Given the description of an element on the screen output the (x, y) to click on. 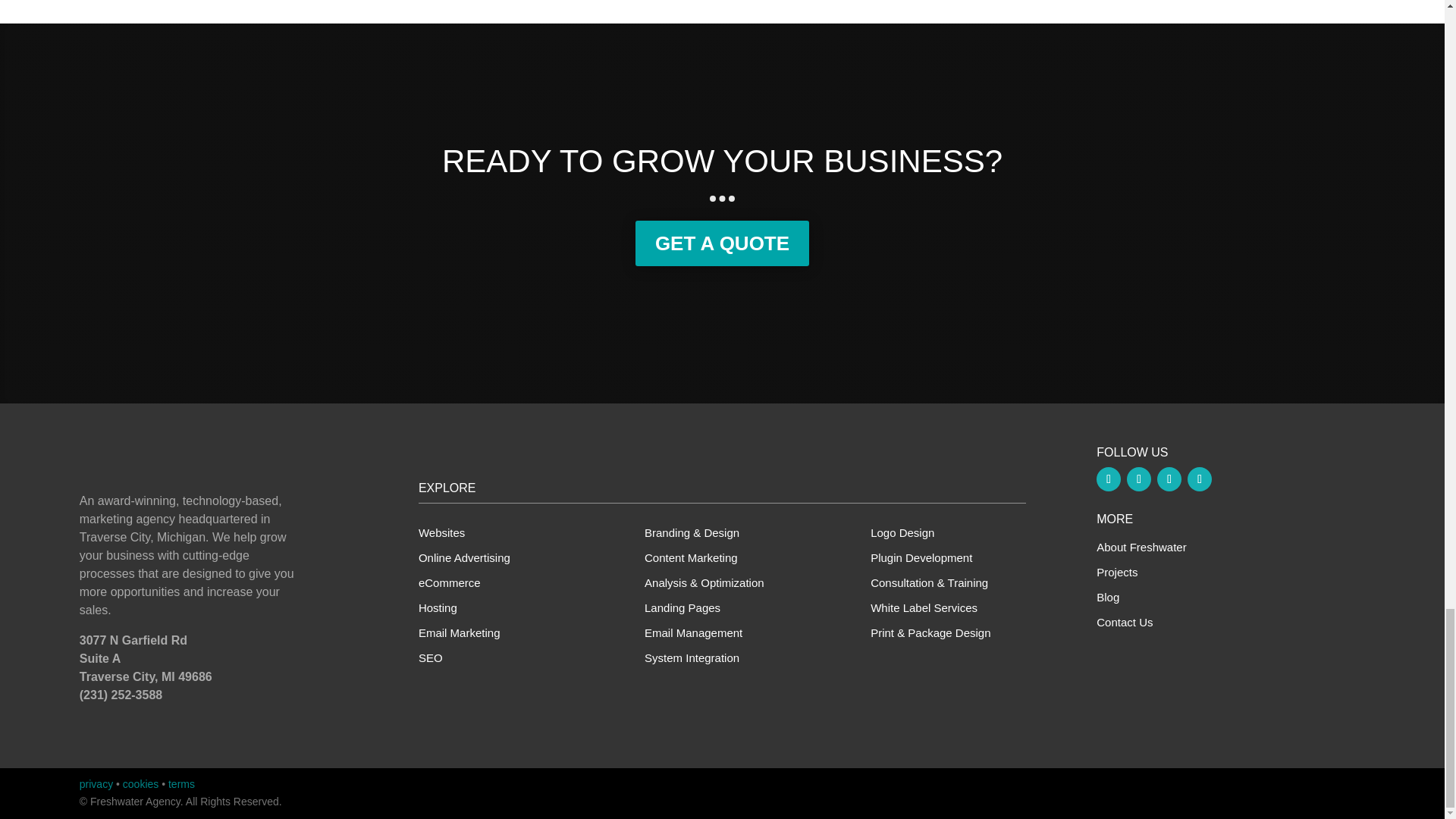
Follow on Instagram (1168, 478)
Follow on LinkedIn (1199, 478)
Follow on Twitter (1138, 478)
Follow on Facebook (1108, 478)
